Given the description of an element on the screen output the (x, y) to click on. 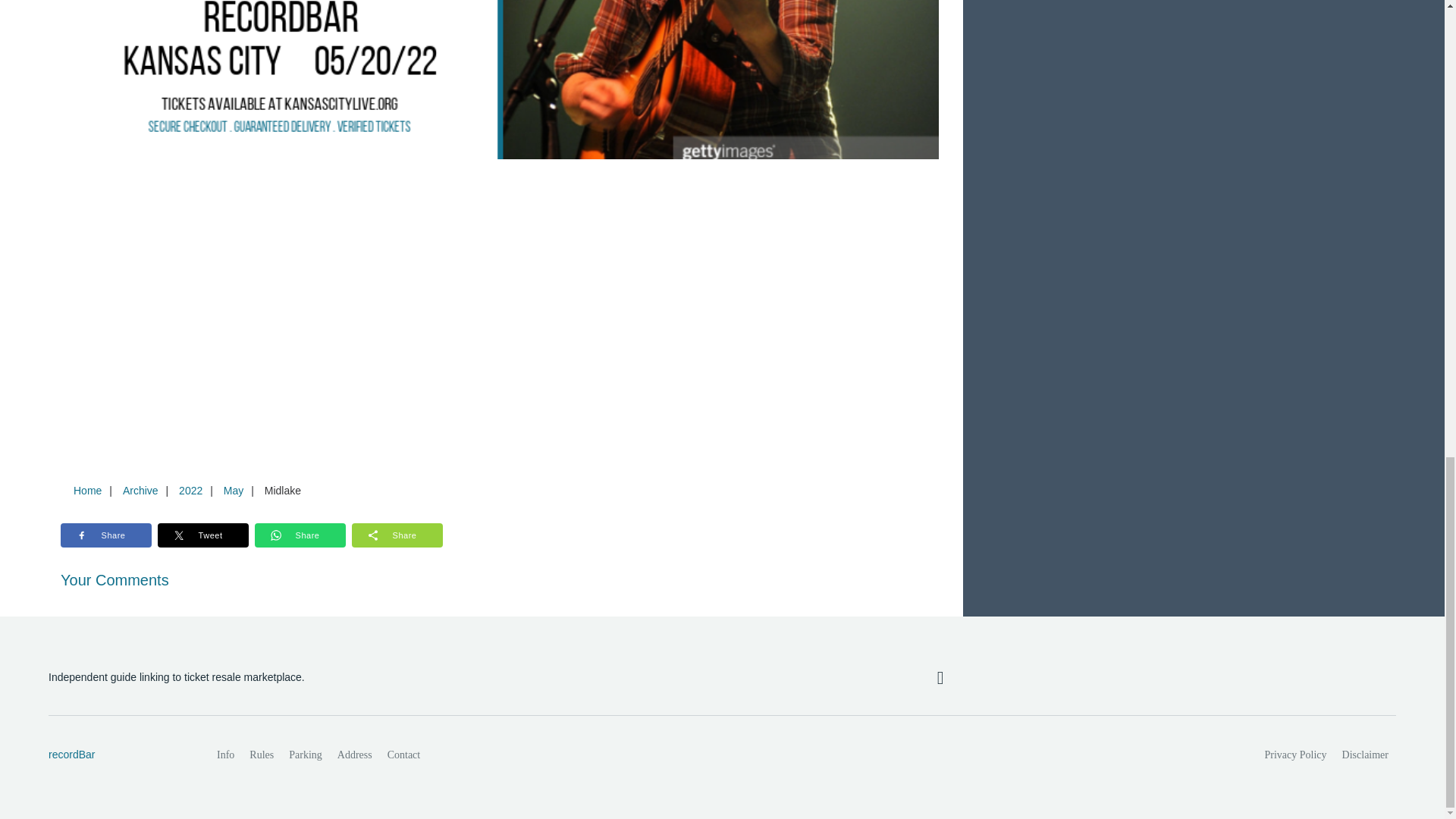
Rules (261, 755)
recordBar (116, 754)
May (232, 490)
2022 (190, 490)
Parking (305, 755)
Info (225, 755)
Contact (404, 755)
Disclaimer (1365, 755)
Home (87, 490)
Address (355, 755)
Archive (140, 490)
Privacy Policy (1296, 755)
